Given the description of an element on the screen output the (x, y) to click on. 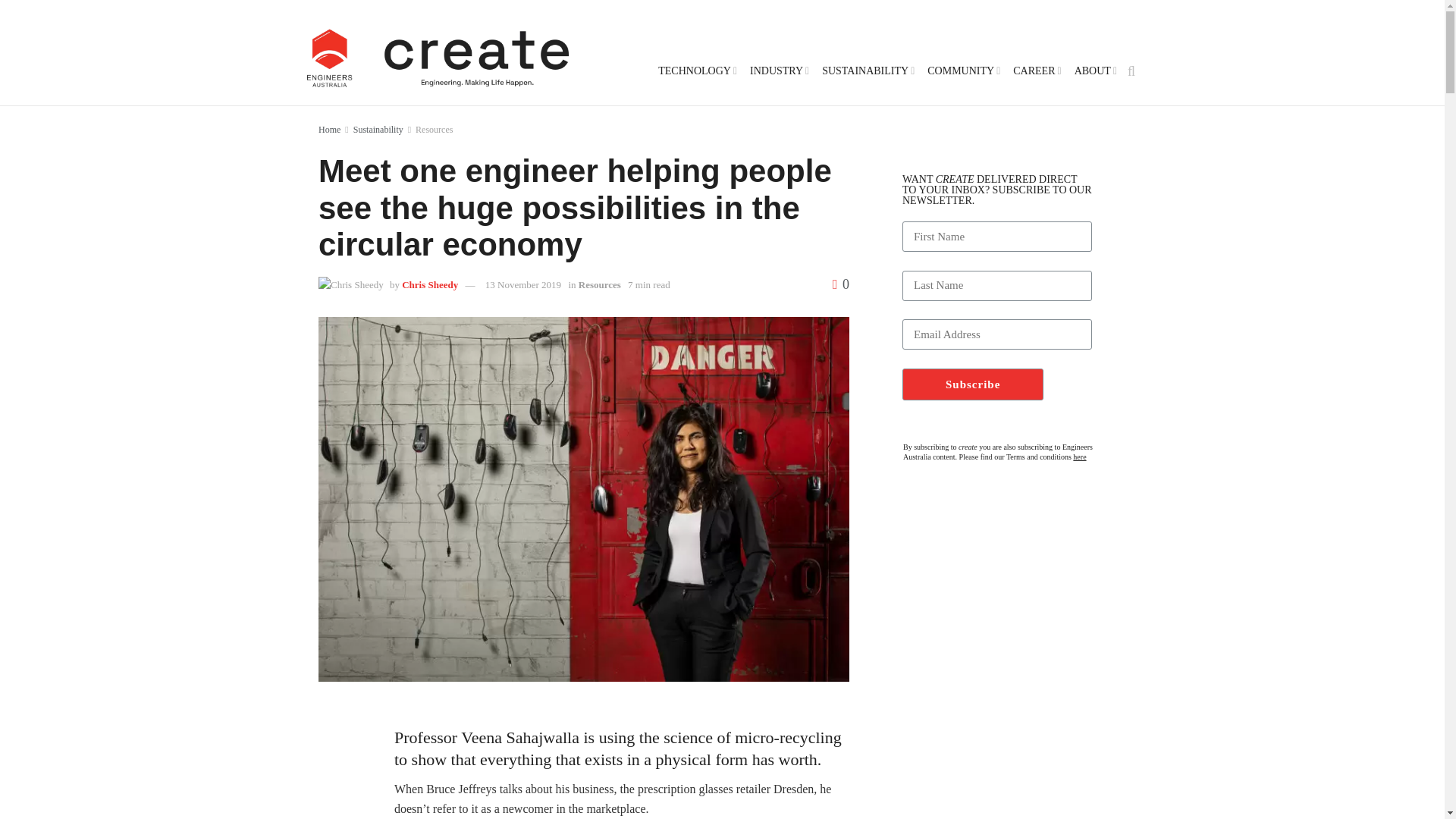
SUSTAINABILITY (868, 70)
COMMUNITY (962, 70)
ABOUT (1095, 70)
TECHNOLOGY (697, 70)
Subscribe (972, 384)
CAREER (1036, 70)
INDUSTRY (778, 70)
